Given the description of an element on the screen output the (x, y) to click on. 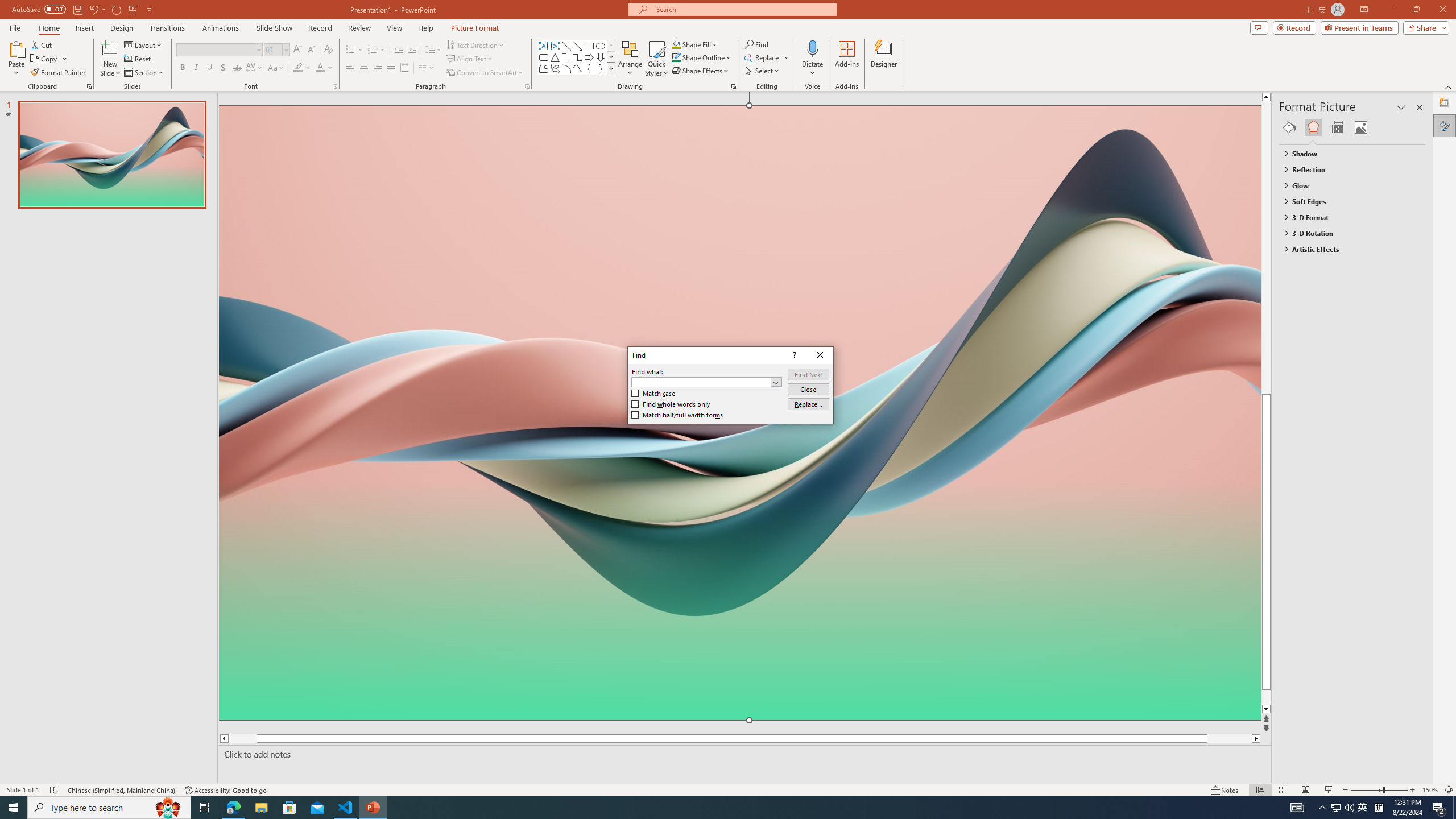
Shape Outline (701, 56)
Character Spacing (254, 67)
Convert to SmartArt (485, 72)
Freeform: Shape (543, 68)
Text Direction (1335, 807)
Clear Formatting (476, 44)
